Given the description of an element on the screen output the (x, y) to click on. 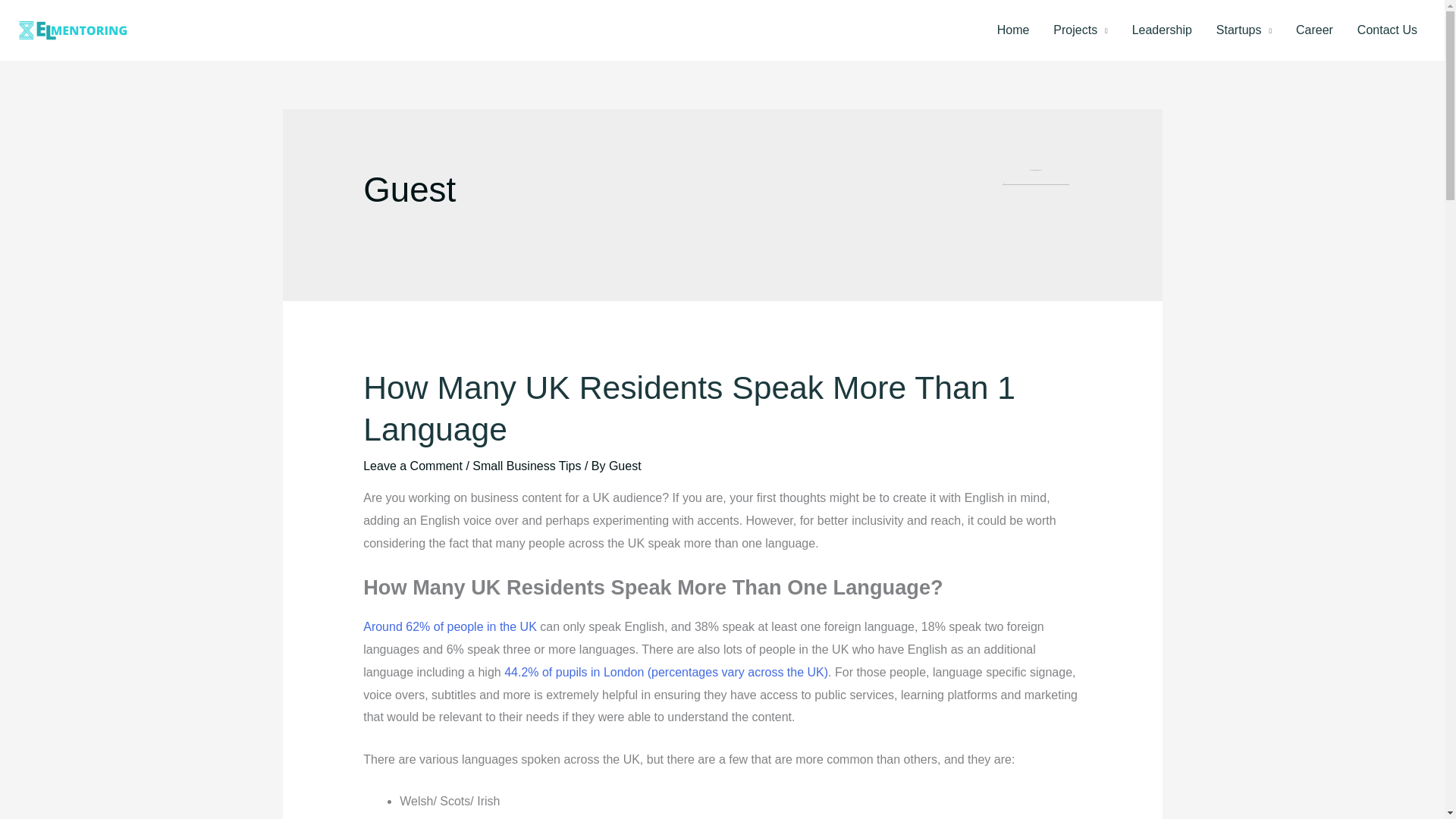
Guest (625, 465)
Startups (1244, 30)
Leadership (1161, 30)
Contact Us (1387, 30)
How Many UK Residents Speak More Than 1 Language (688, 408)
Leave a Comment (412, 465)
Home (1013, 30)
Small Business Tips (525, 465)
Projects (1080, 30)
View all posts by Guest (625, 465)
